Given the description of an element on the screen output the (x, y) to click on. 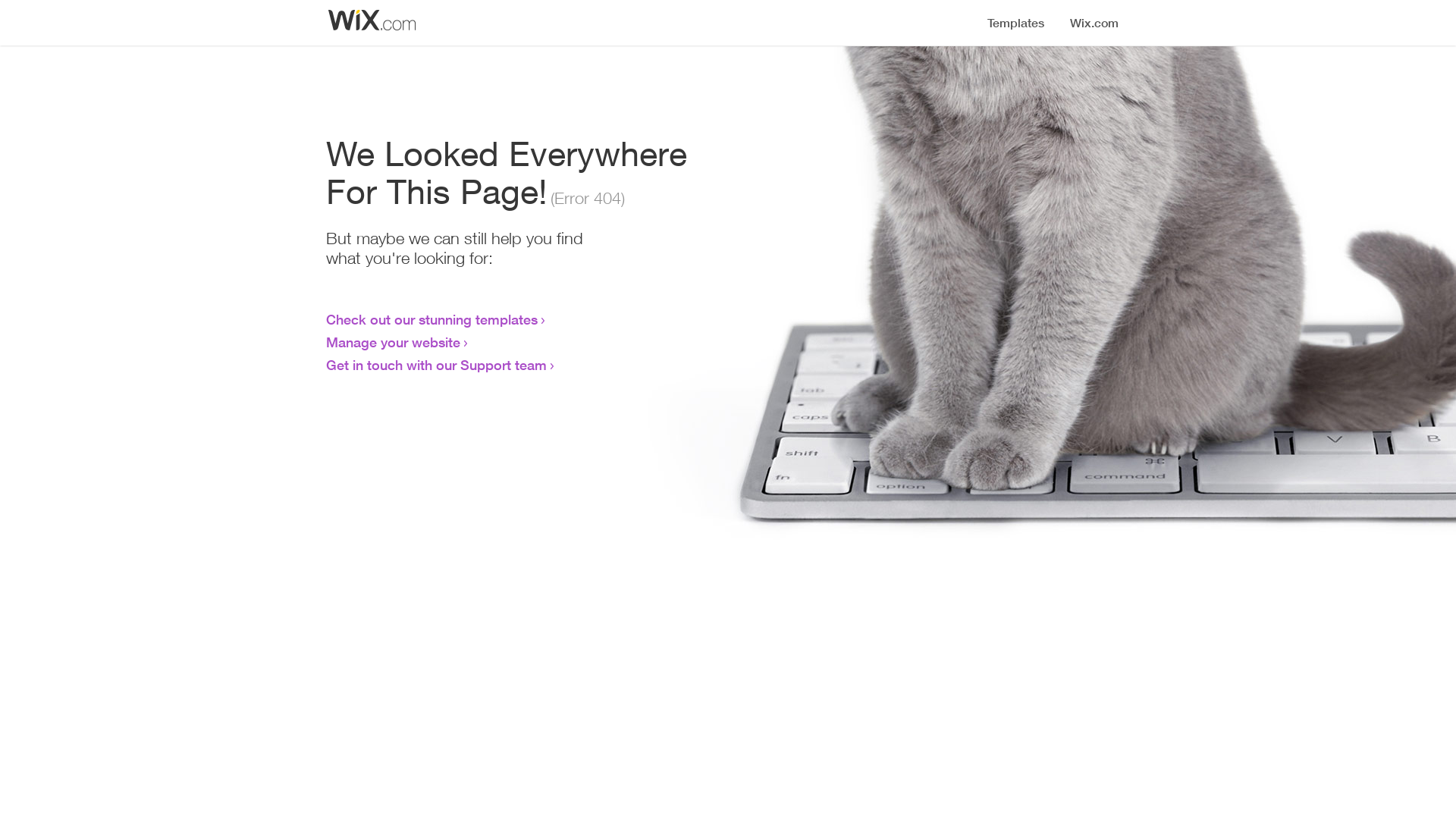
Get in touch with our Support team Element type: text (436, 364)
Manage your website Element type: text (393, 341)
Check out our stunning templates Element type: text (431, 318)
